Given the description of an element on the screen output the (x, y) to click on. 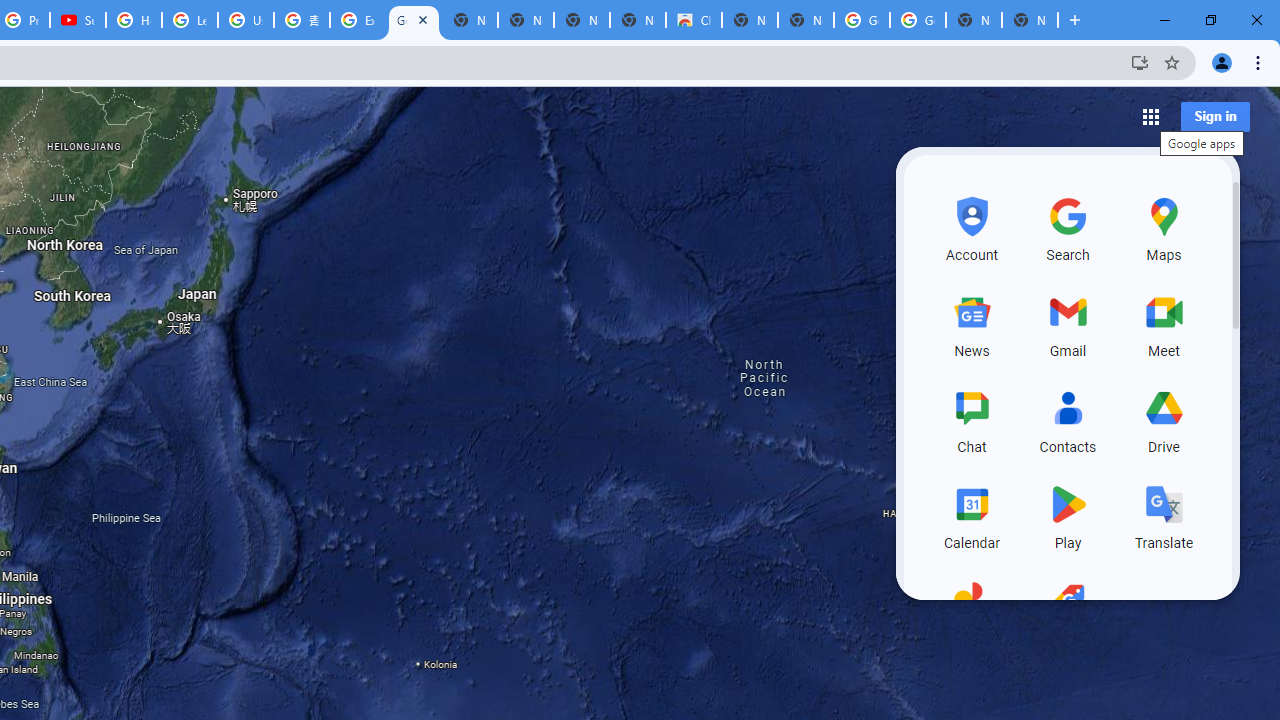
Explore new street-level details - Google Maps Help (358, 20)
Chrome Web Store (693, 20)
Subscriptions - YouTube (77, 20)
